Given the description of an element on the screen output the (x, y) to click on. 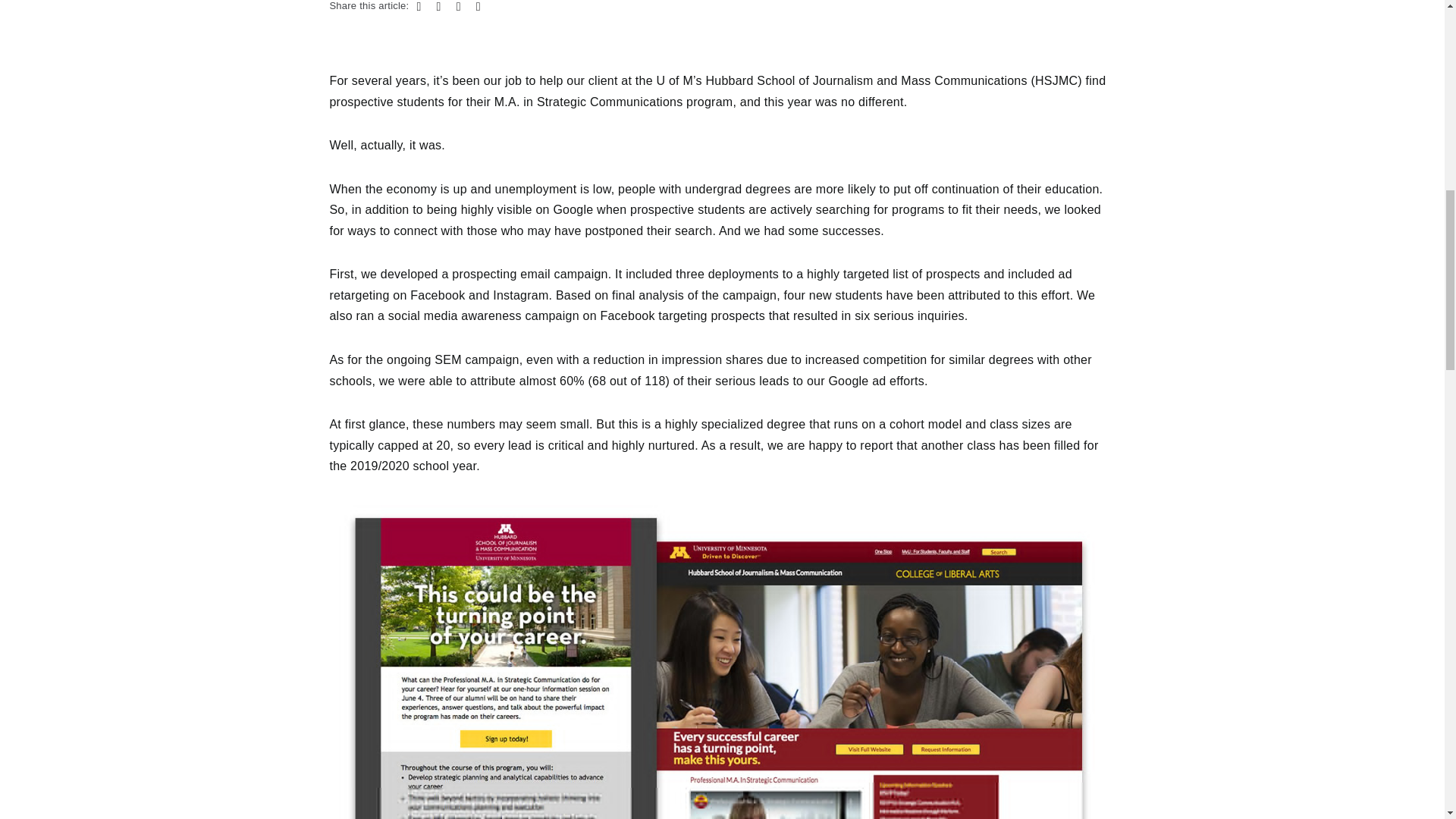
Email (477, 8)
Facebook (418, 8)
LinkedIn (458, 8)
X (438, 8)
